Given the description of an element on the screen output the (x, y) to click on. 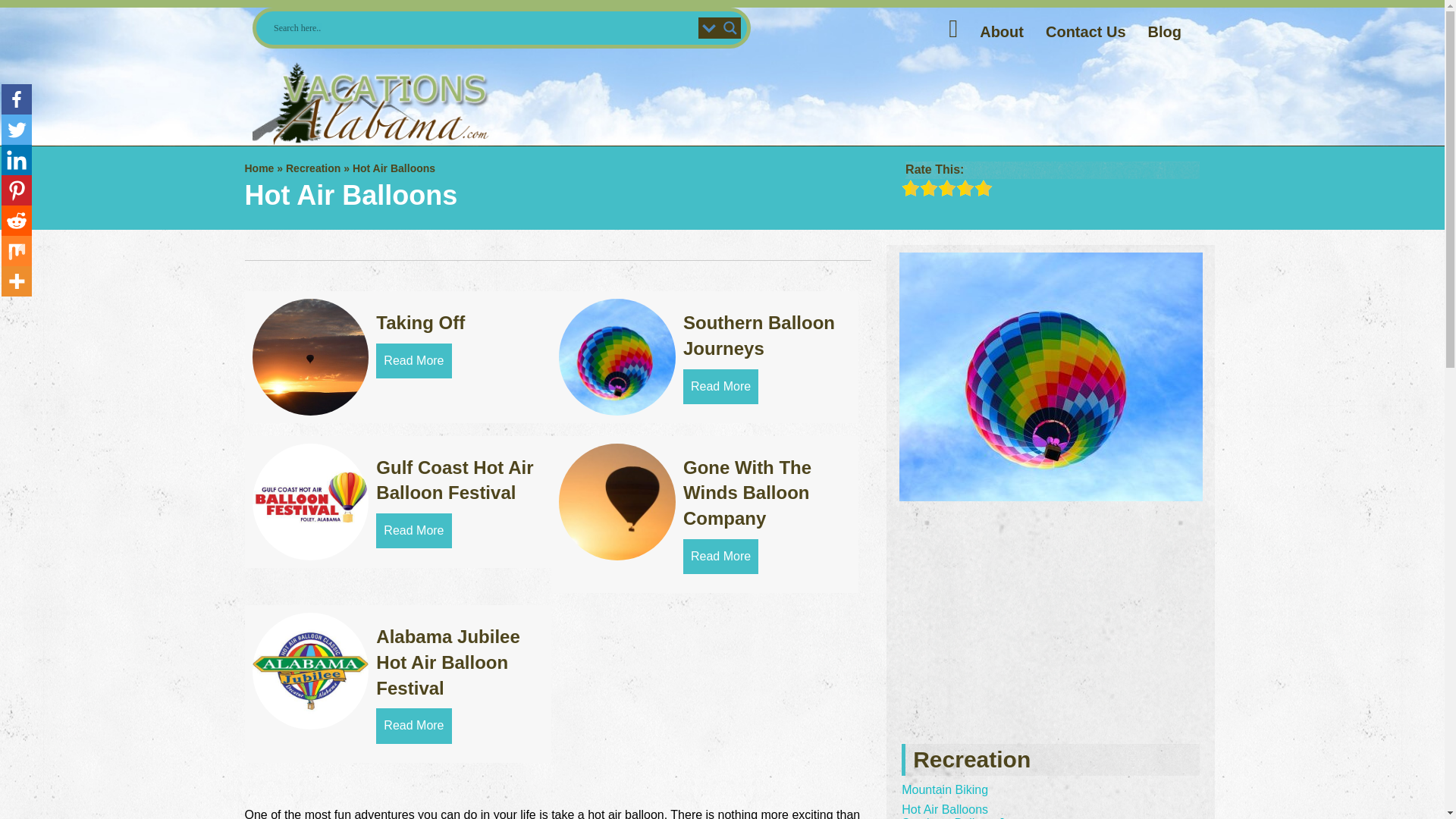
Taking Off (419, 322)
Gulf Coast Hot Air Balloon Festival (413, 530)
Gulf Coast Hot Air Balloon Festival (453, 480)
About (1001, 32)
Hot Air Balloon Rides, Birmingham, Alabama (617, 356)
Southern Balloon Journeys (758, 335)
Taking Off -hot air balloon rides Alabama Gulf Coast (309, 356)
Advertisement (798, 105)
best-vacations-alabama-al-travel.png (372, 102)
Alabama Jubilee Hot Air Balloon Festival Decatur Alabama (309, 670)
Southern Balloon Journeys (720, 386)
Alabama Jubilee Hot Air Balloon Festival (447, 661)
Contact Us (1086, 32)
Taking Off (413, 360)
